Given the description of an element on the screen output the (x, y) to click on. 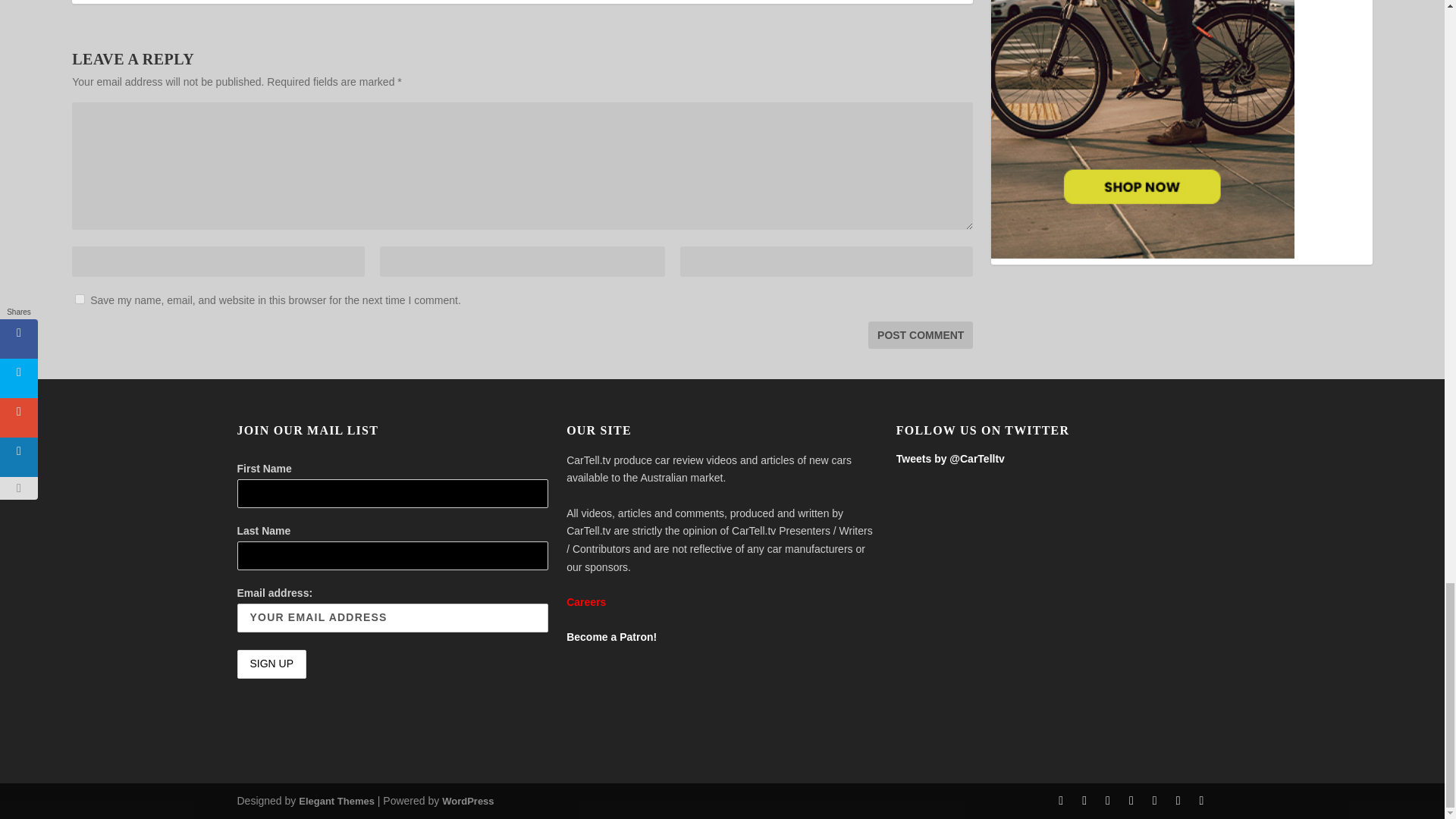
Sign up (270, 664)
yes (79, 298)
Post Comment (919, 334)
